Given the description of an element on the screen output the (x, y) to click on. 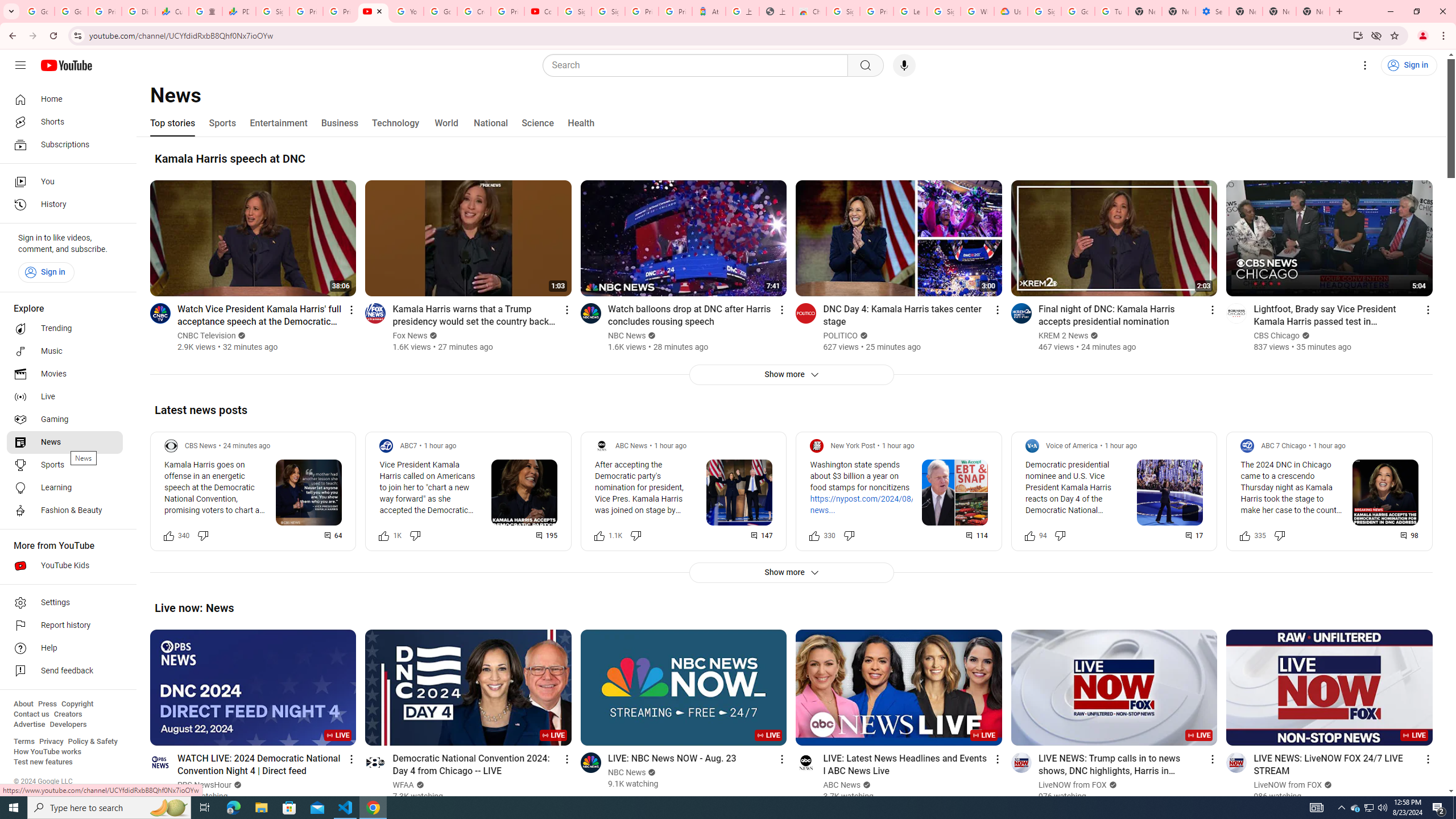
Entertainment (277, 122)
Trending (64, 328)
Developers (68, 724)
Voice of America (1071, 445)
Comment (1409, 534)
NBC News (626, 772)
Sign in - Google Accounts (842, 11)
CNBC Television (206, 335)
Like this post along with 1,006 other people (383, 534)
Atour Hotel - Google hotels (708, 11)
Sign in - Google Accounts (608, 11)
